Given the description of an element on the screen output the (x, y) to click on. 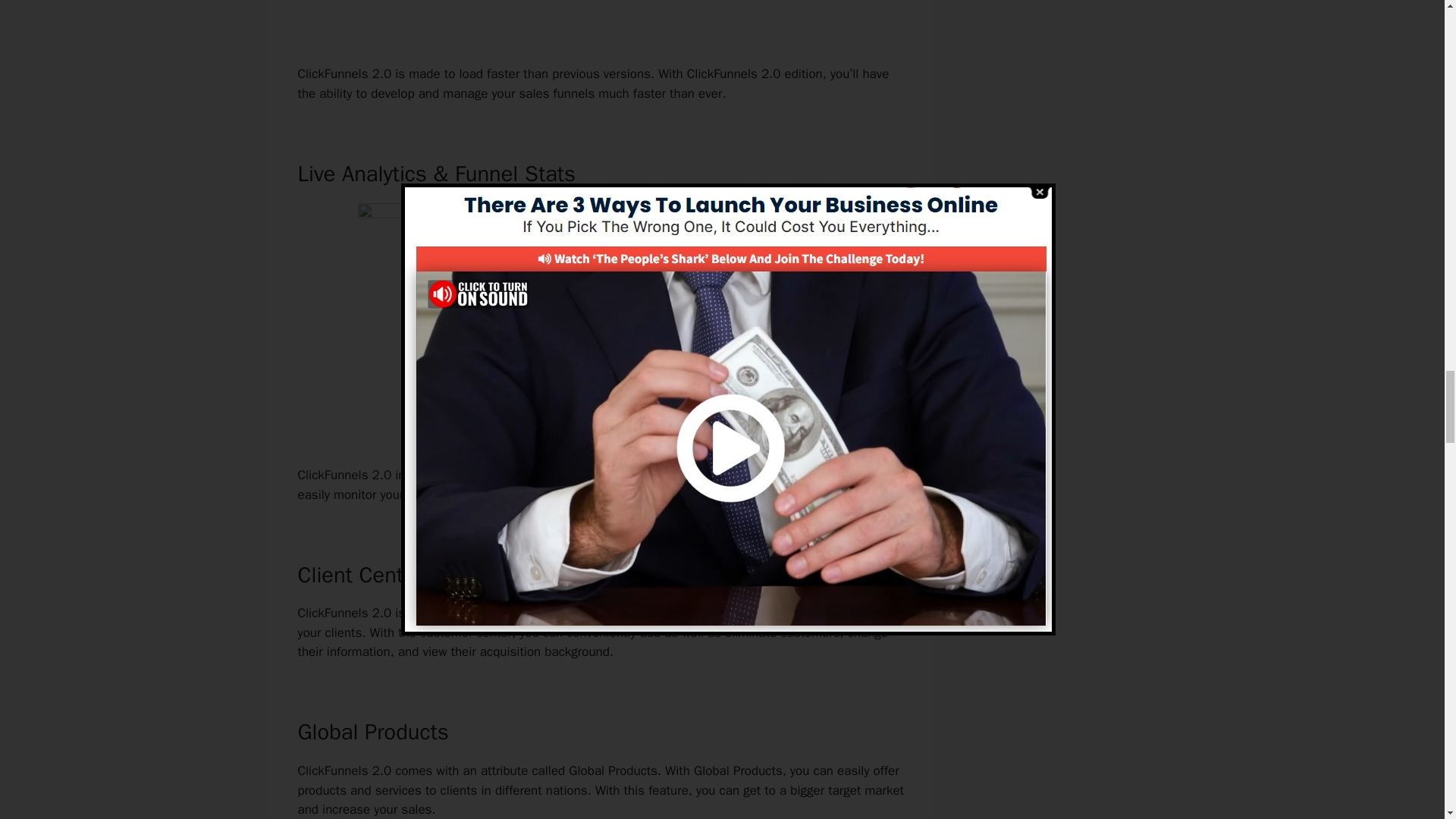
Stats (724, 474)
